Given the description of an element on the screen output the (x, y) to click on. 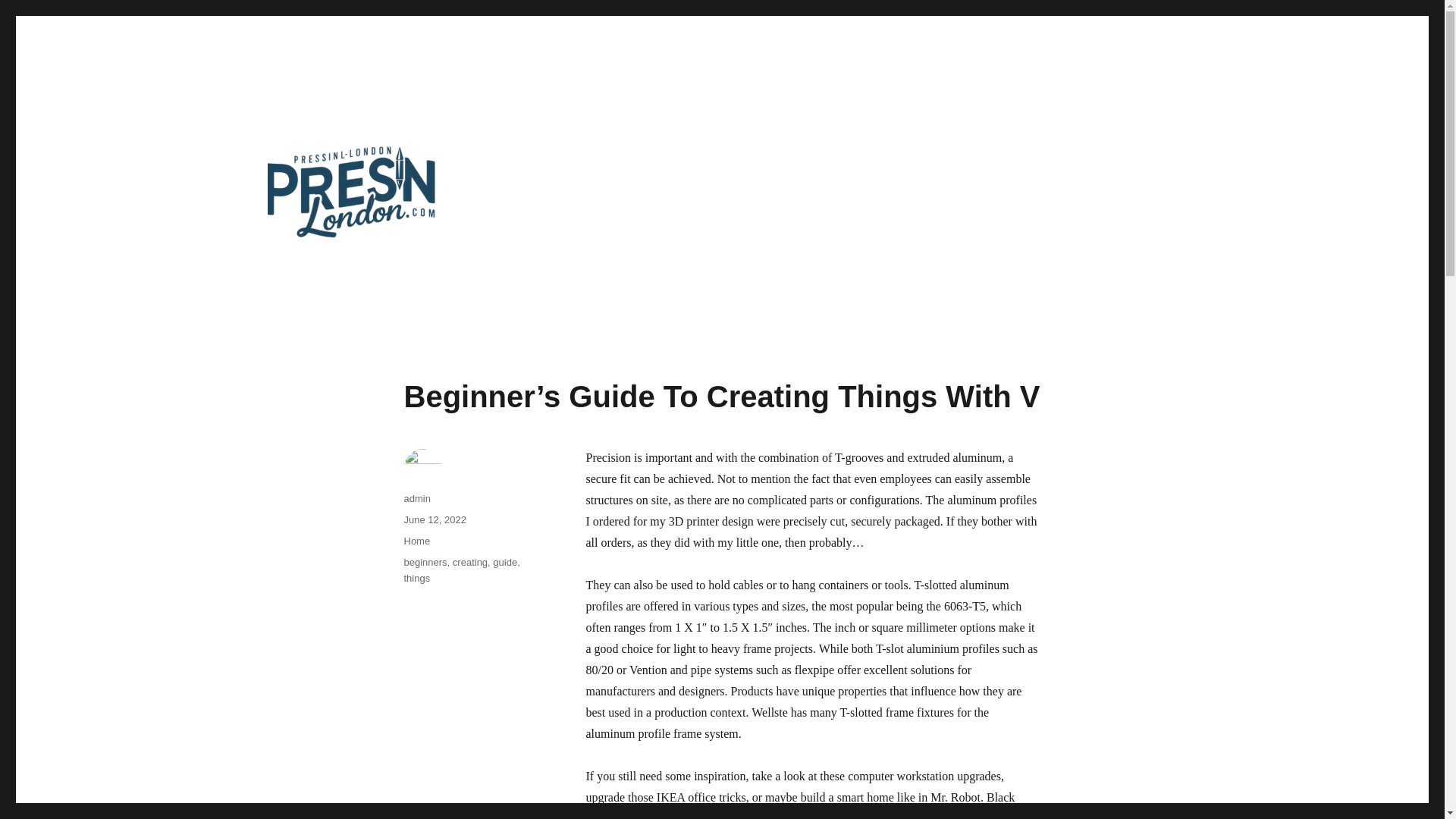
Home (416, 541)
beginners (424, 562)
creating (469, 562)
things (416, 577)
admin (416, 498)
June 12, 2022 (434, 519)
guide (504, 562)
